Given the description of an element on the screen output the (x, y) to click on. 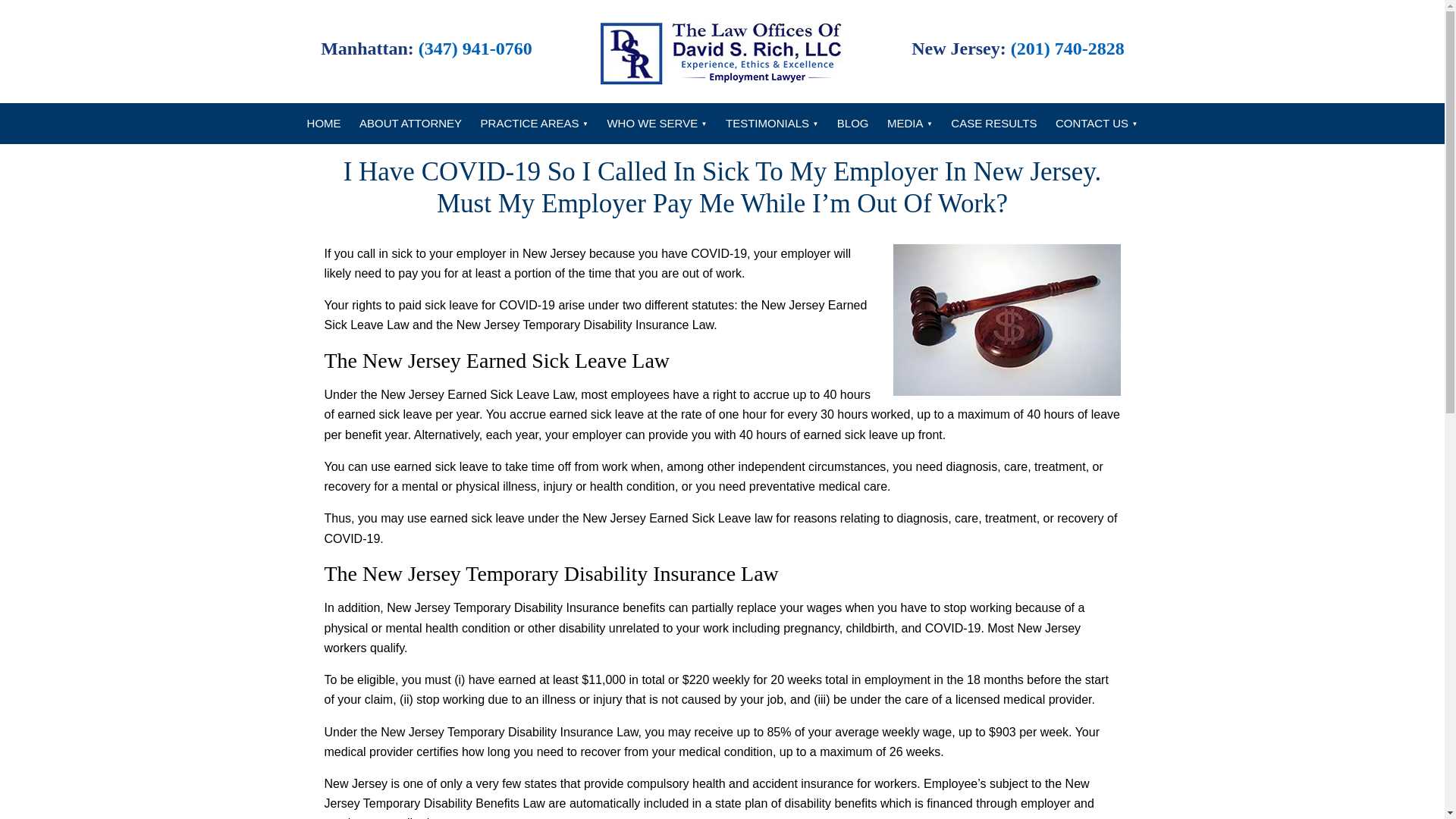
TESTIMONIALS (771, 123)
ABOUT ATTORNEY (410, 123)
WHO WE SERVE (656, 123)
PRACTICE AREAS (534, 123)
MEDIA (909, 123)
BLOG (852, 123)
HOME (324, 123)
CONTACT US (1096, 123)
CASE RESULTS (993, 123)
